Given the description of an element on the screen output the (x, y) to click on. 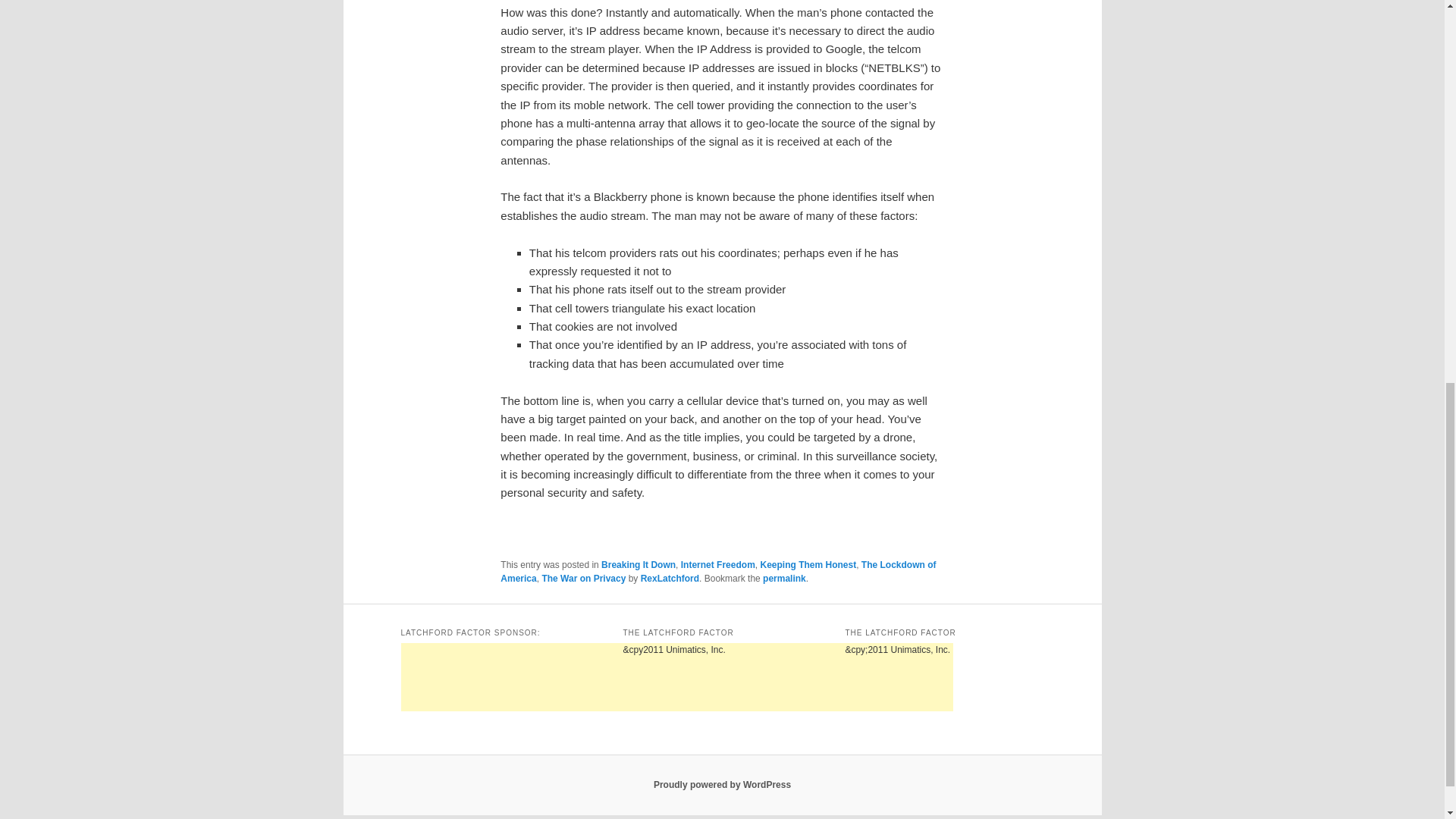
RexLatchford (669, 578)
permalink (784, 578)
Breaking It Down (638, 564)
Semantic Personal Publishing Platform (721, 784)
Internet Freedom (718, 564)
Keeping Them Honest (808, 564)
Proudly powered by WordPress (721, 784)
The War on Privacy (583, 578)
Advertisement (676, 676)
The Lockdown of America (718, 571)
